Given the description of an element on the screen output the (x, y) to click on. 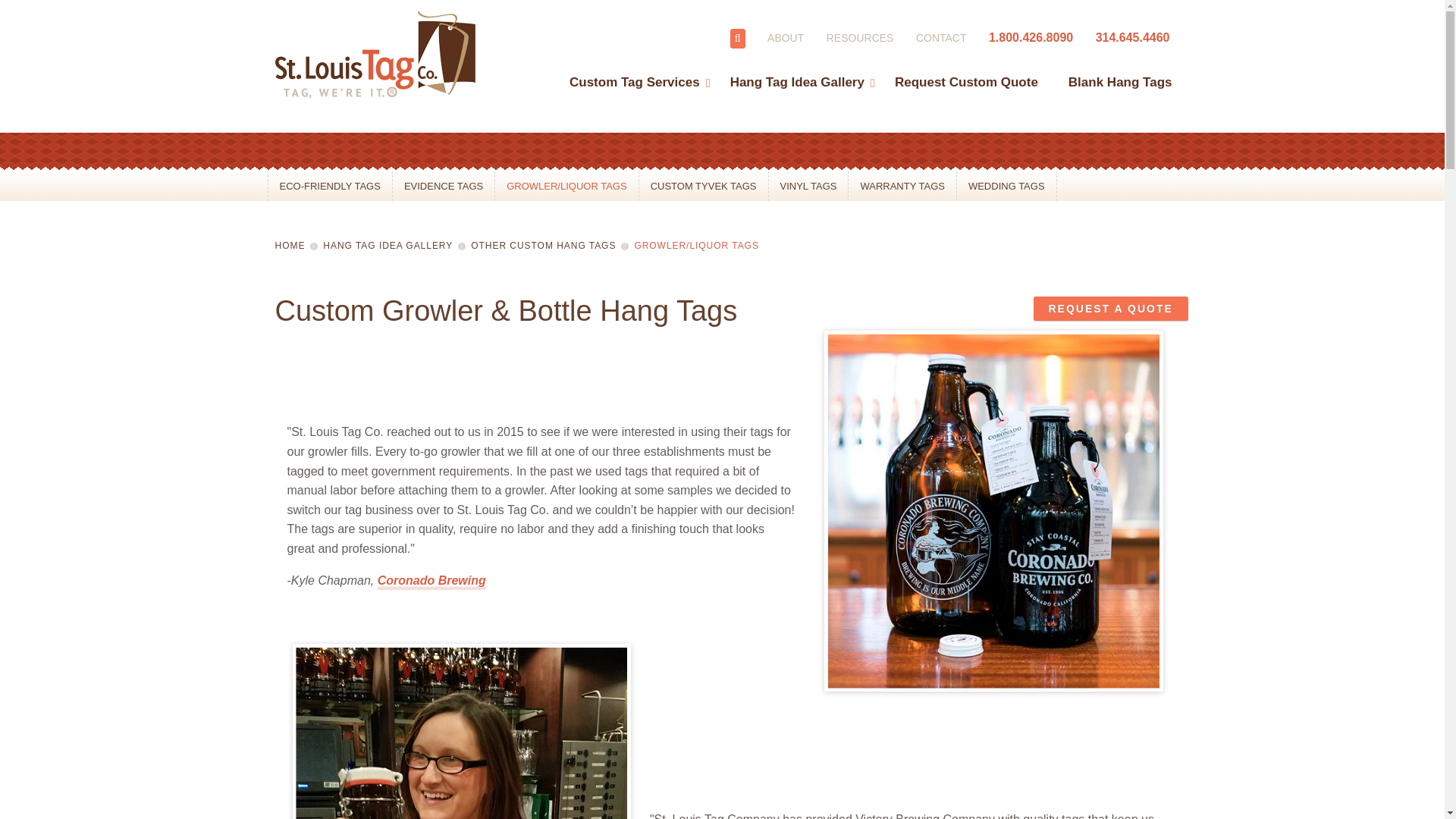
Custom Tag Services (634, 70)
1.800.426.8090 (1030, 37)
Hang Tag Idea Gallery (796, 70)
Call Us Today! (1133, 37)
314.645.4460 (1133, 37)
ABOUT (785, 37)
Call Us Today! (1030, 37)
St. Louis Tag Co - Manufacturer of Custom Printed Hang Tags (380, 55)
About St. Louis Tag (785, 37)
St. Louis Tag Resources (860, 37)
Search (737, 37)
Blank Hang Tags (1112, 70)
RESOURCES (860, 37)
Contact St. Louis Tag Today! (940, 37)
Request Custom Quote (965, 70)
